Given the description of an element on the screen output the (x, y) to click on. 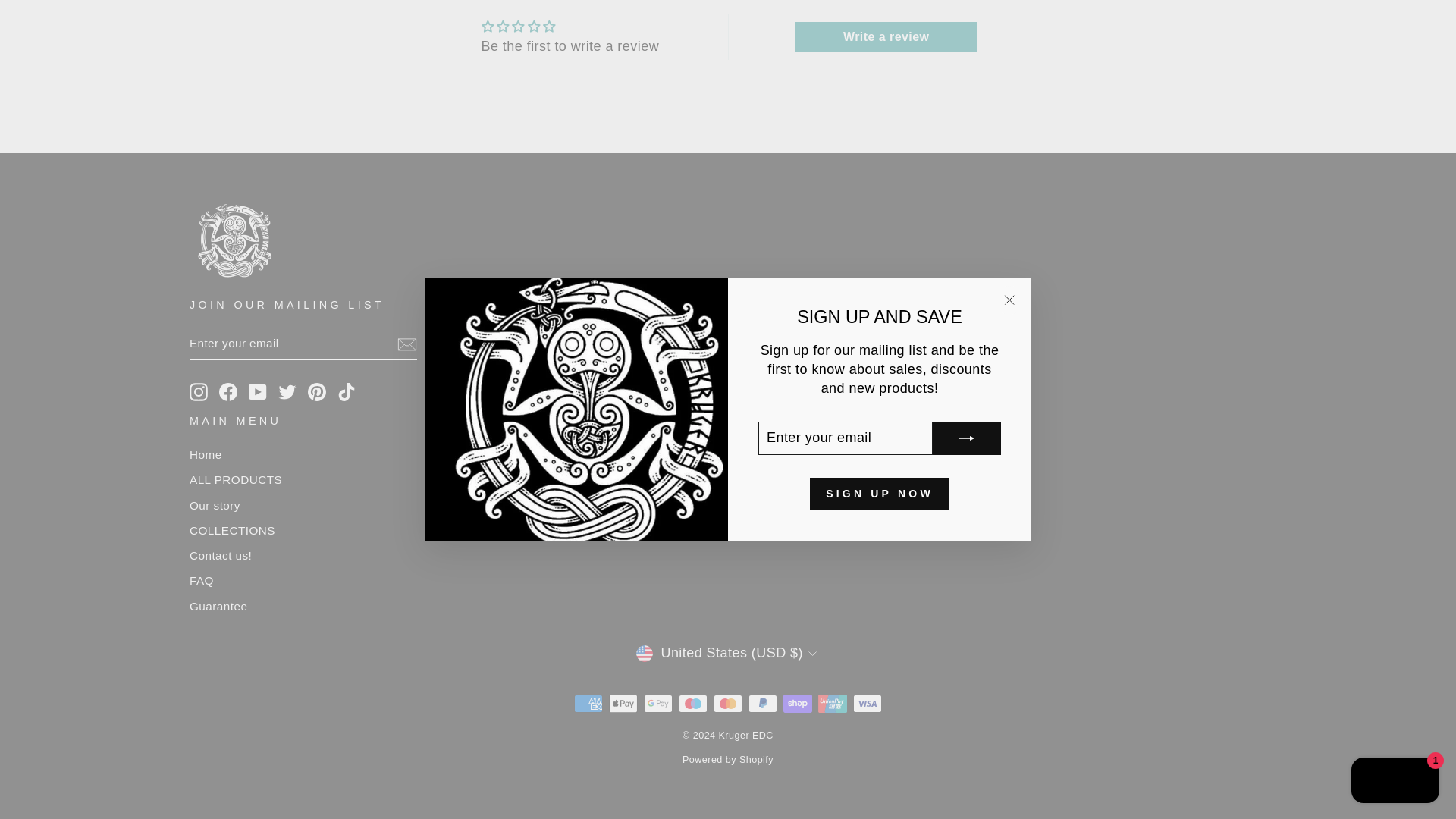
Google Pay (657, 703)
PayPal (762, 703)
Shop Pay (797, 703)
American Express (587, 703)
Mastercard (727, 703)
Apple Pay (622, 703)
Maestro (692, 703)
